Given the description of an element on the screen output the (x, y) to click on. 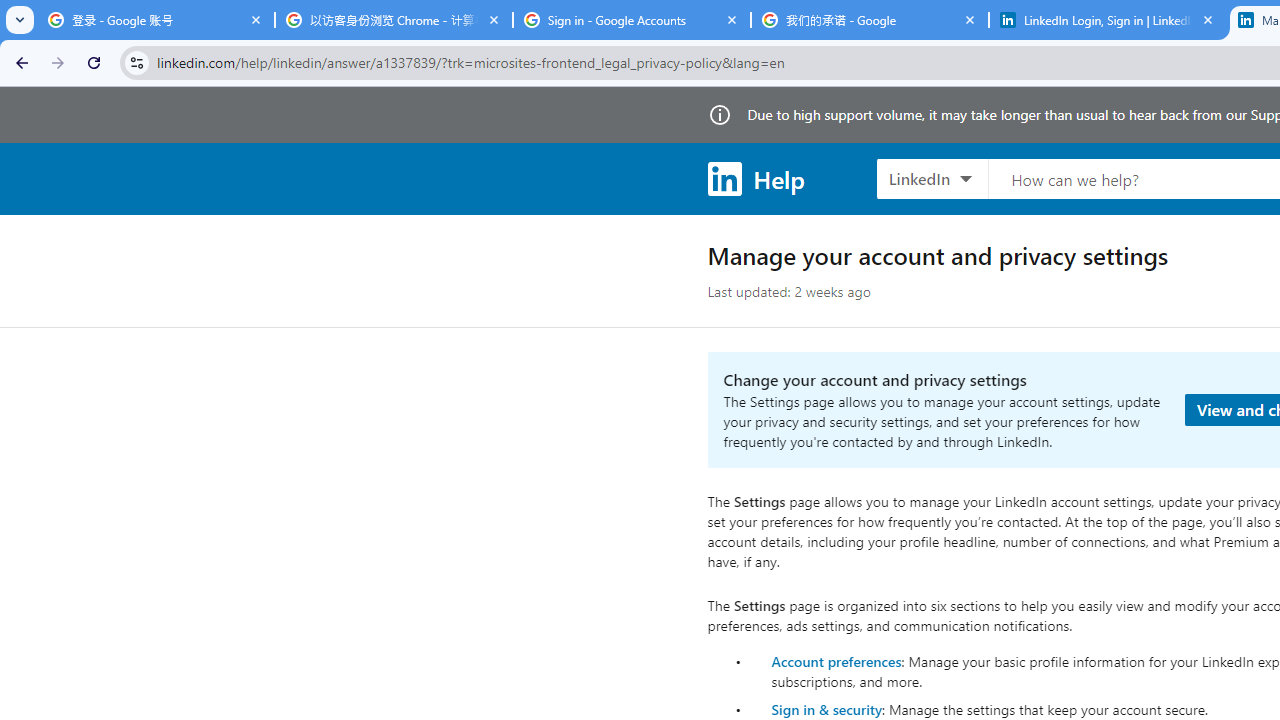
LinkedIn Login, Sign in | LinkedIn (1108, 20)
